Given the description of an element on the screen output the (x, y) to click on. 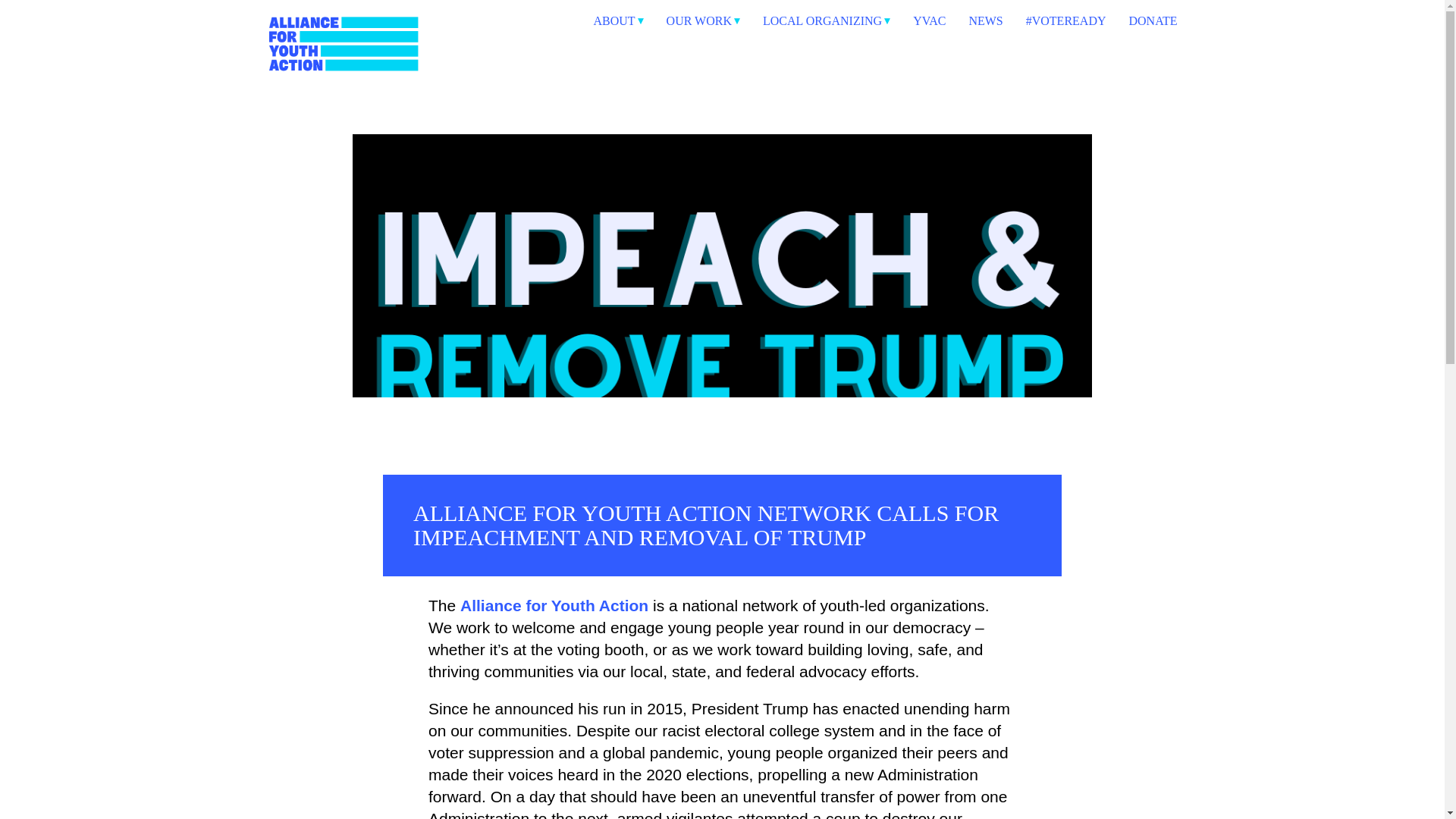
Alliance for Youth Action (436, 108)
DONATE (1152, 20)
LOCAL ORGANIZING (825, 20)
OUR WORK (702, 20)
ABOUT (617, 20)
NEWS (985, 20)
Alliance for Youth Action (553, 607)
YVAC (928, 20)
